Given the description of an element on the screen output the (x, y) to click on. 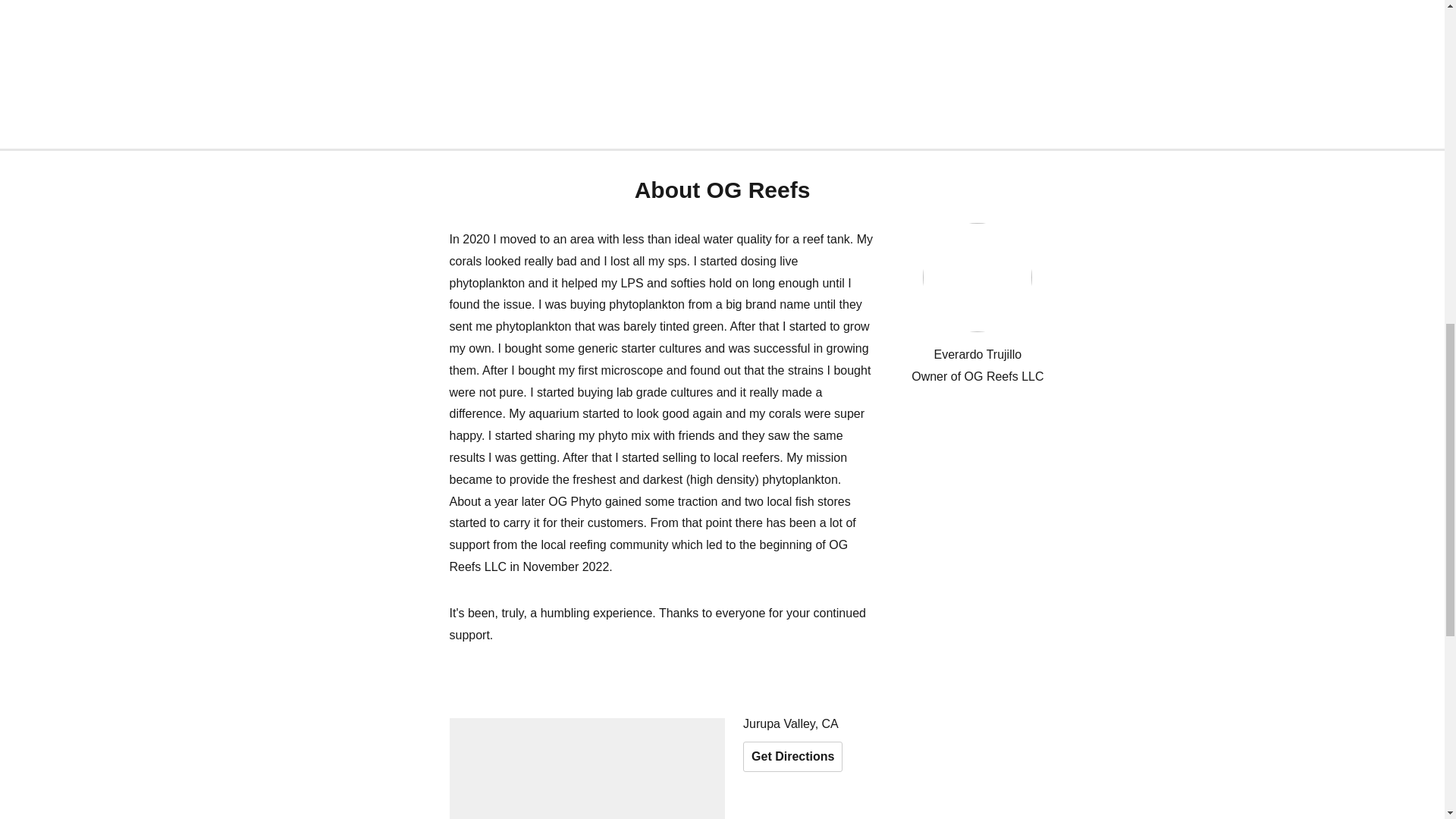
Location on map (586, 768)
Get Directions (792, 757)
